Given the description of an element on the screen output the (x, y) to click on. 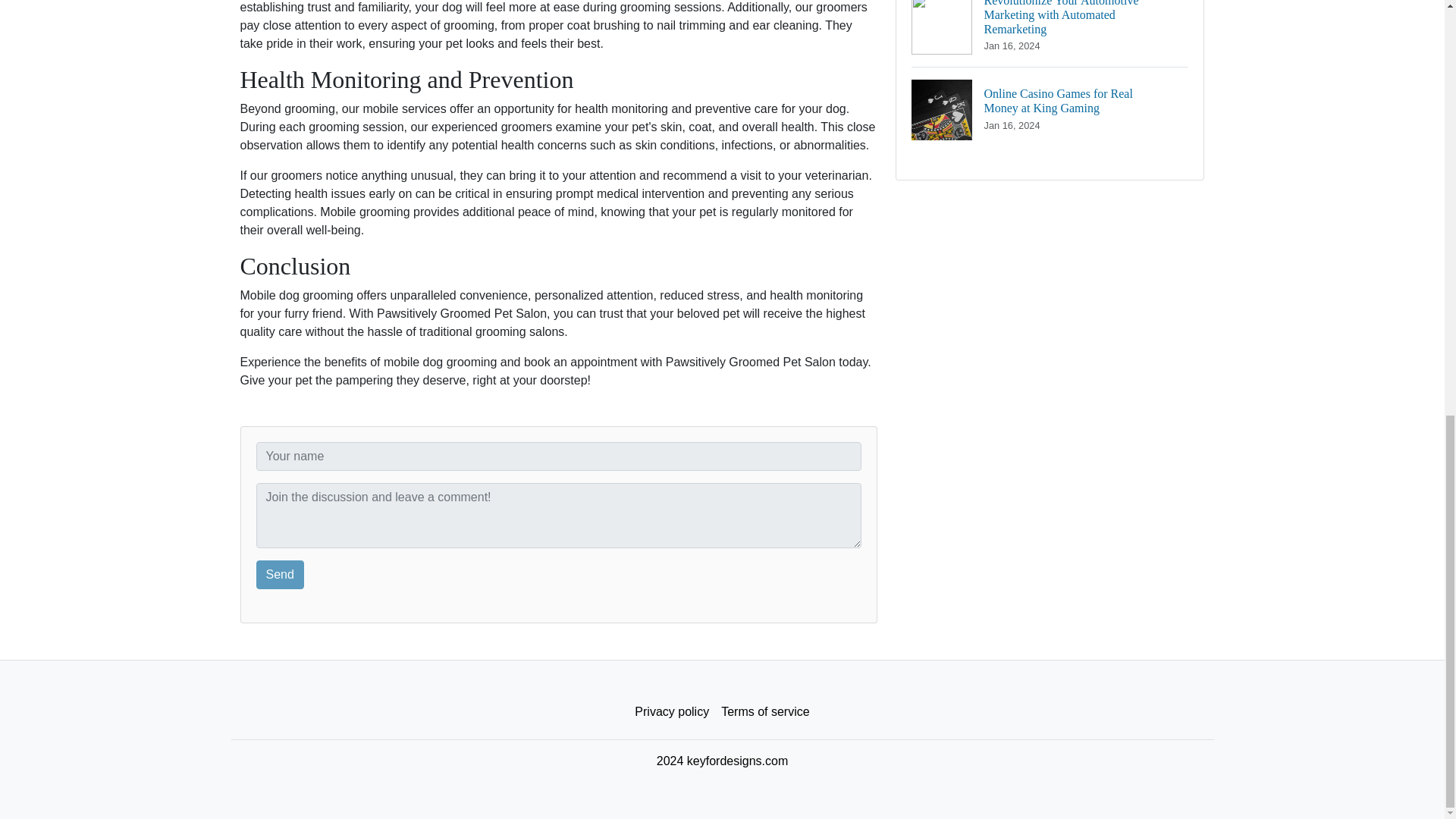
Send (280, 574)
Privacy policy (671, 711)
Send (280, 574)
Terms of service (764, 711)
